Given the description of an element on the screen output the (x, y) to click on. 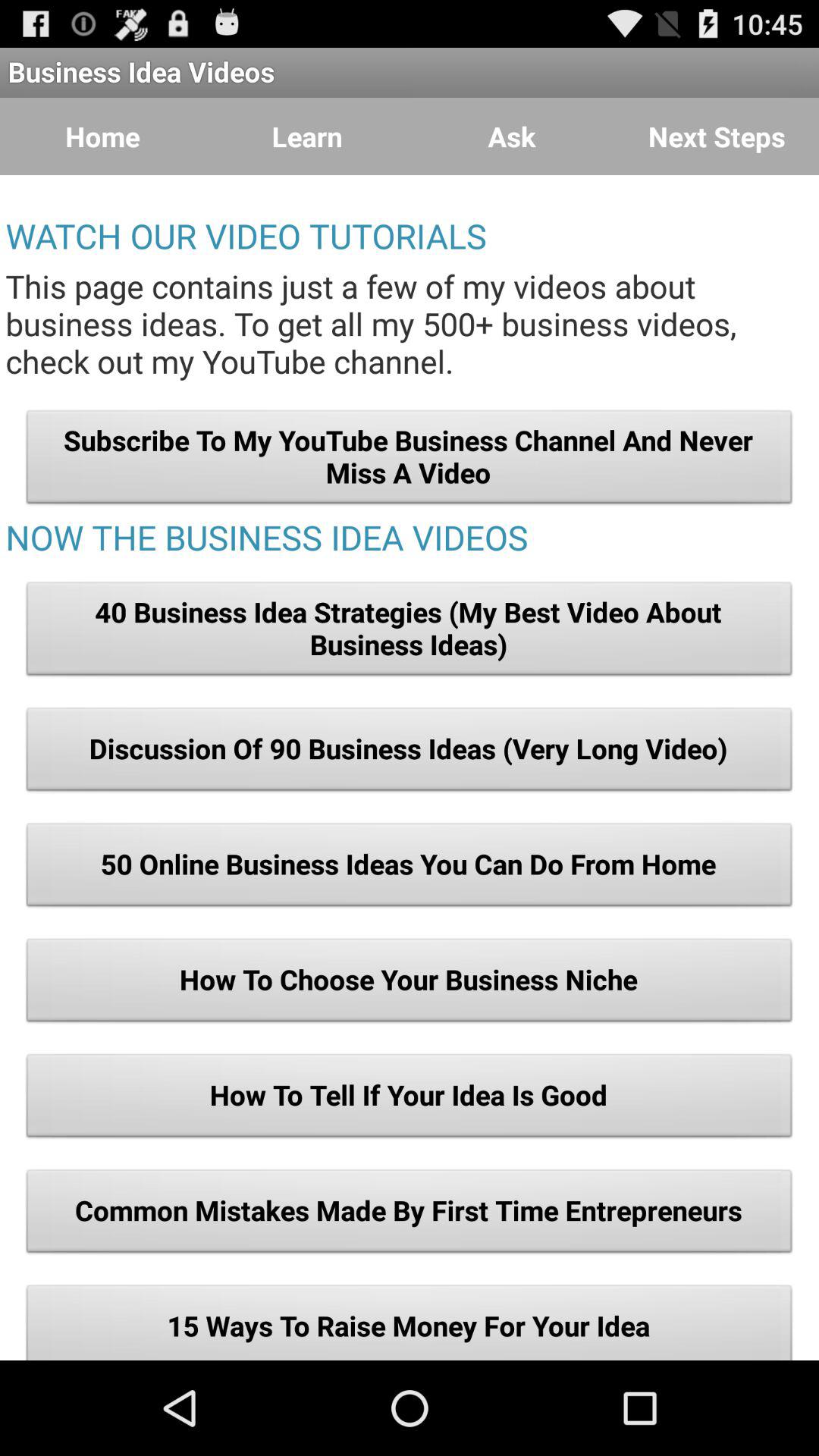
turn off item below the common mistakes made button (409, 1321)
